Given the description of an element on the screen output the (x, y) to click on. 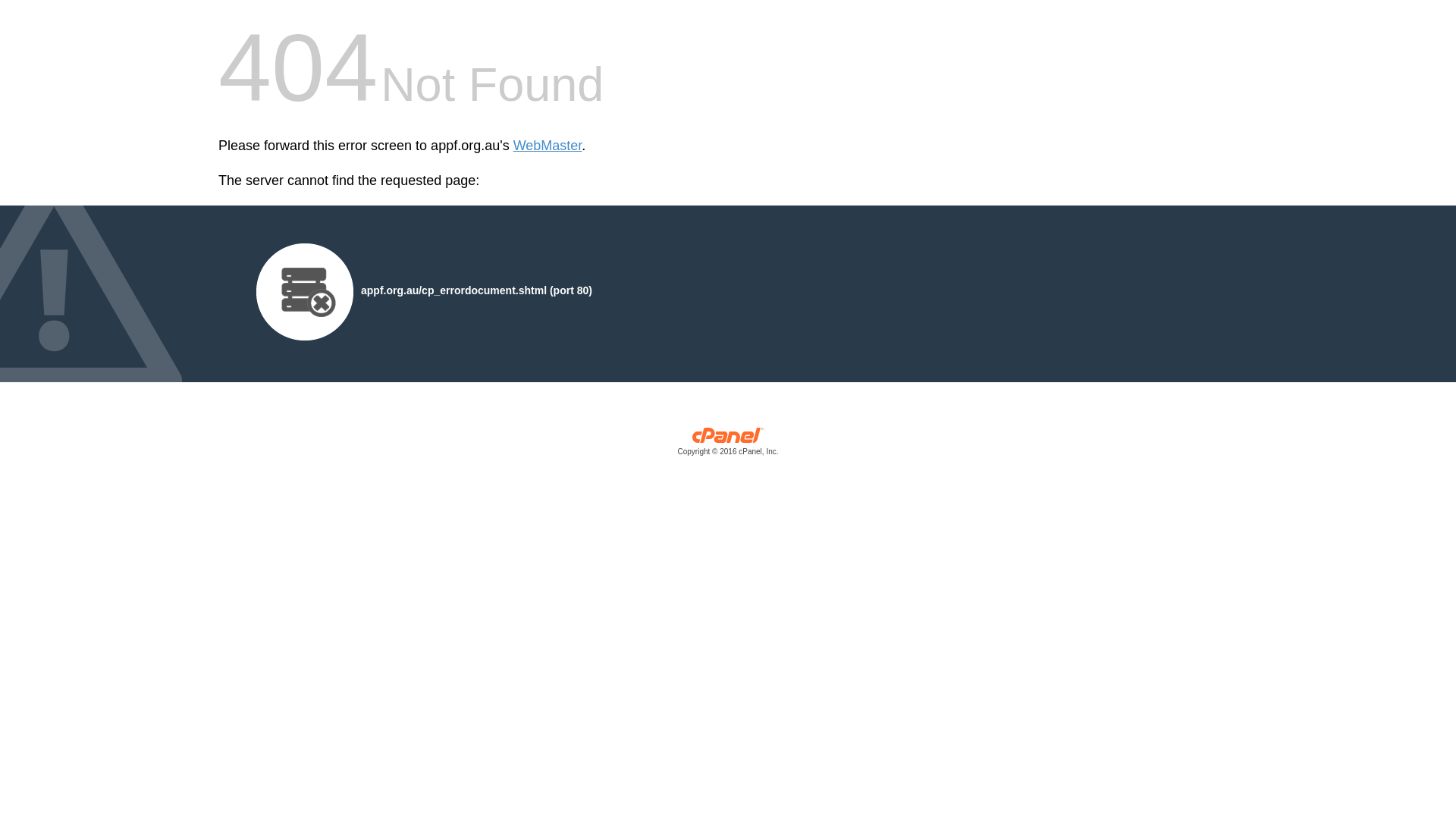
WebMaster Element type: text (547, 145)
